Given the description of an element on the screen output the (x, y) to click on. 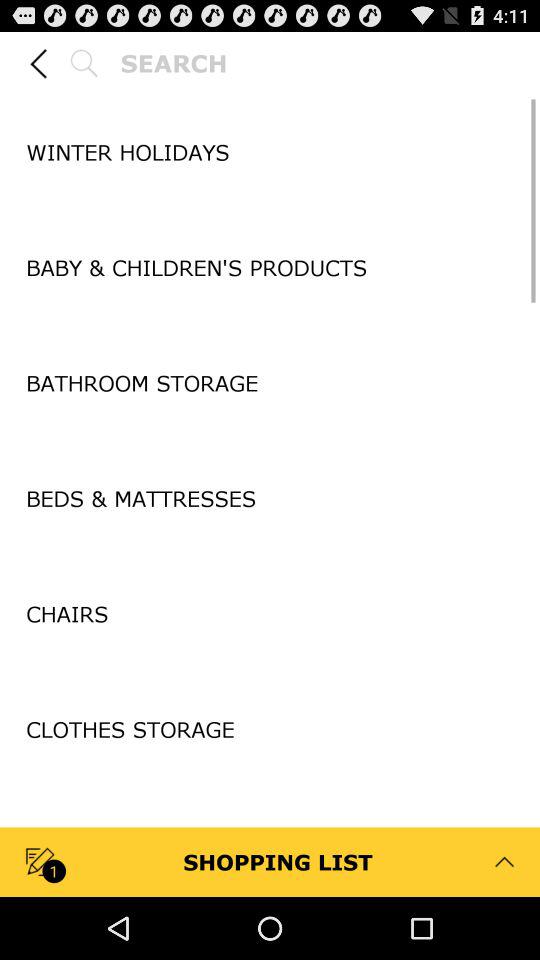
choose the icon above the beds & mattresses (270, 441)
